Given the description of an element on the screen output the (x, y) to click on. 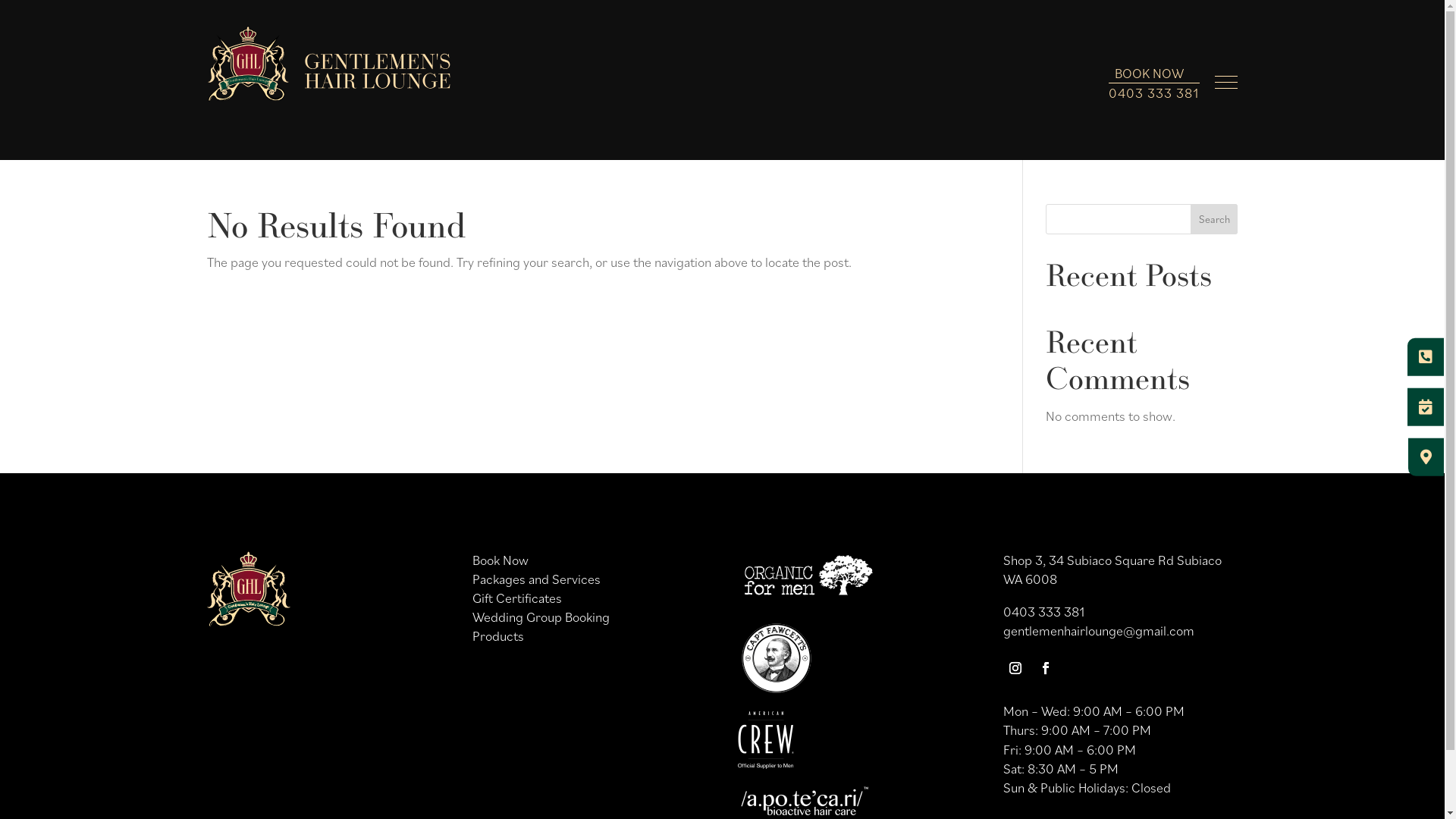
Asset 6 Element type: hover (804, 800)
Wedding Group Booking Element type: text (540, 616)
0403 333 381 Element type: text (1153, 92)
Follow on Instagram Element type: hover (1015, 667)
logo-none Element type: hover (247, 588)
Shop 3, 34 Subiaco Square Rd Subiaco Element type: text (1112, 559)
Asset 4 Element type: hover (775, 658)
Book Now Element type: text (500, 559)
Asset 3 Element type: hover (807, 577)
Search Element type: text (1214, 218)
Asset 5 Element type: hover (765, 739)
Follow on Facebook Element type: hover (1045, 667)
0403 333 381 Element type: text (1043, 611)
Packages and Services Element type: text (536, 578)
BOOK NOW Element type: text (1148, 72)
gentlemenhairlounge@gmail.com Element type: text (1098, 630)
Products Element type: text (498, 635)
WA 6008 Element type: text (1030, 578)
Gift Certificates Element type: text (516, 597)
